Given the description of an element on the screen output the (x, y) to click on. 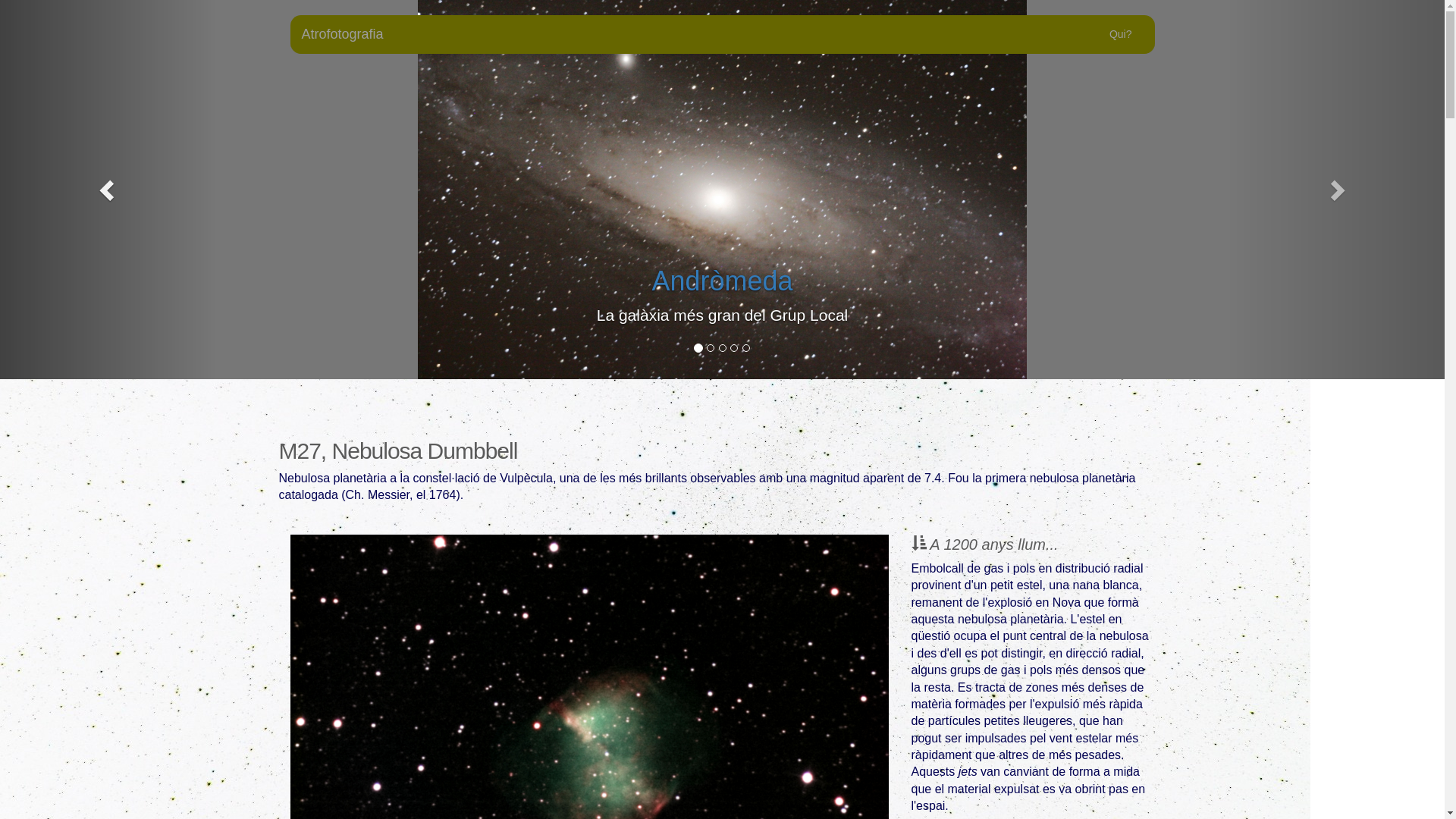
Previous Element type: text (108, 189)
Qui? Element type: text (1120, 34)
Next Element type: text (1335, 189)
Atrofotografia Element type: text (341, 34)
